Given the description of an element on the screen output the (x, y) to click on. 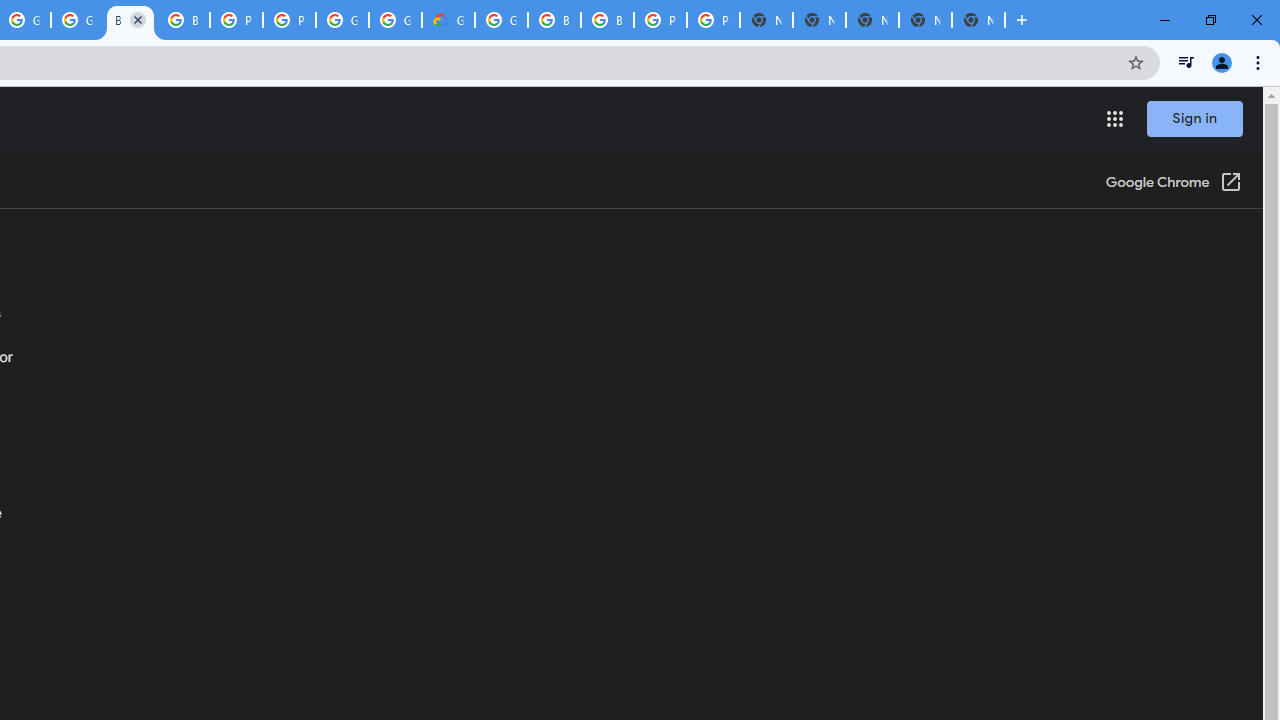
Google Cloud Platform (501, 20)
New Tab (978, 20)
Browse Chrome as a guest - Computer - Google Chrome Help (183, 20)
Google Cloud Platform (395, 20)
Google Cloud Platform (342, 20)
Browse Chrome as a guest - Computer - Google Chrome Help (554, 20)
